Given the description of an element on the screen output the (x, y) to click on. 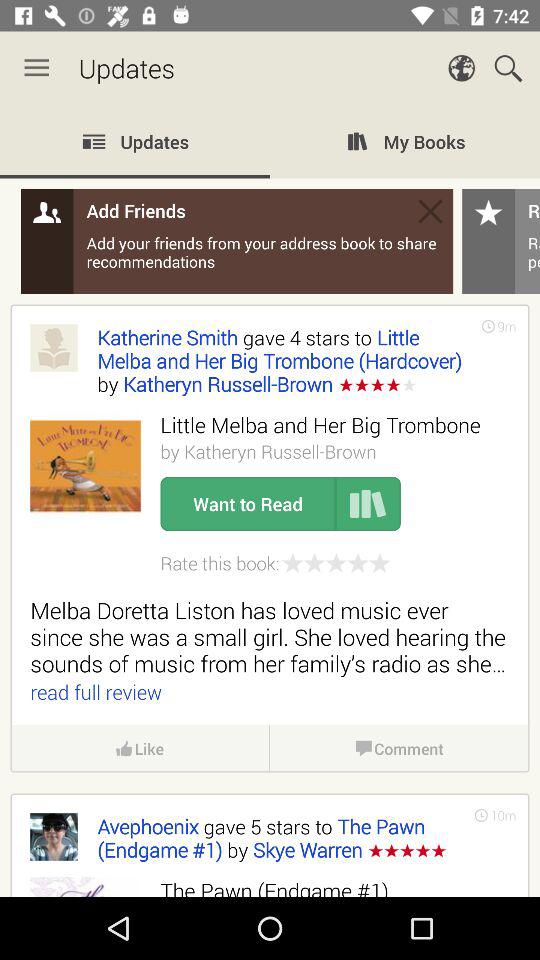
choose the item next to the rate this book: icon (335, 563)
